Given the description of an element on the screen output the (x, y) to click on. 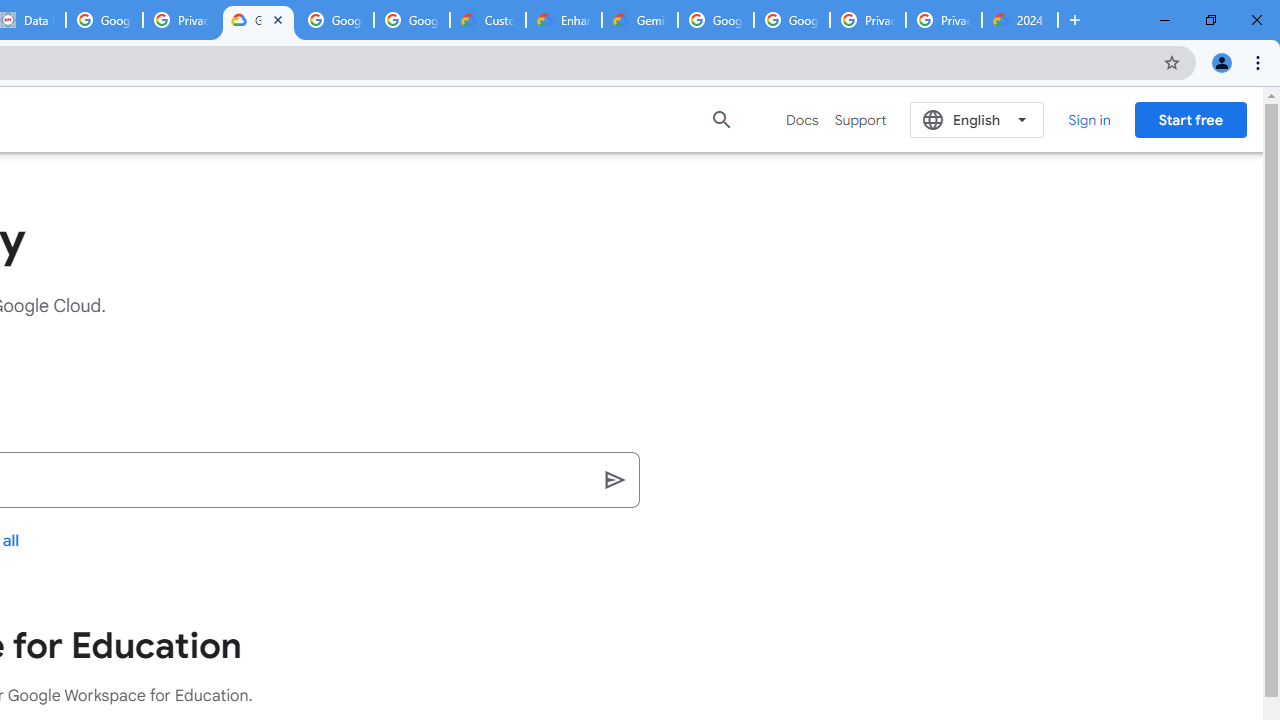
Gemini for Business and Developers | Google Cloud (639, 20)
Google Cloud Platform (715, 20)
Google Workspace - Specific Terms (411, 20)
Google Workspace - Specific Terms (335, 20)
Google Cloud Terms Directory | Google Cloud (258, 20)
Google Cloud Platform (791, 20)
Customer Care | Google Cloud (488, 20)
